Given the description of an element on the screen output the (x, y) to click on. 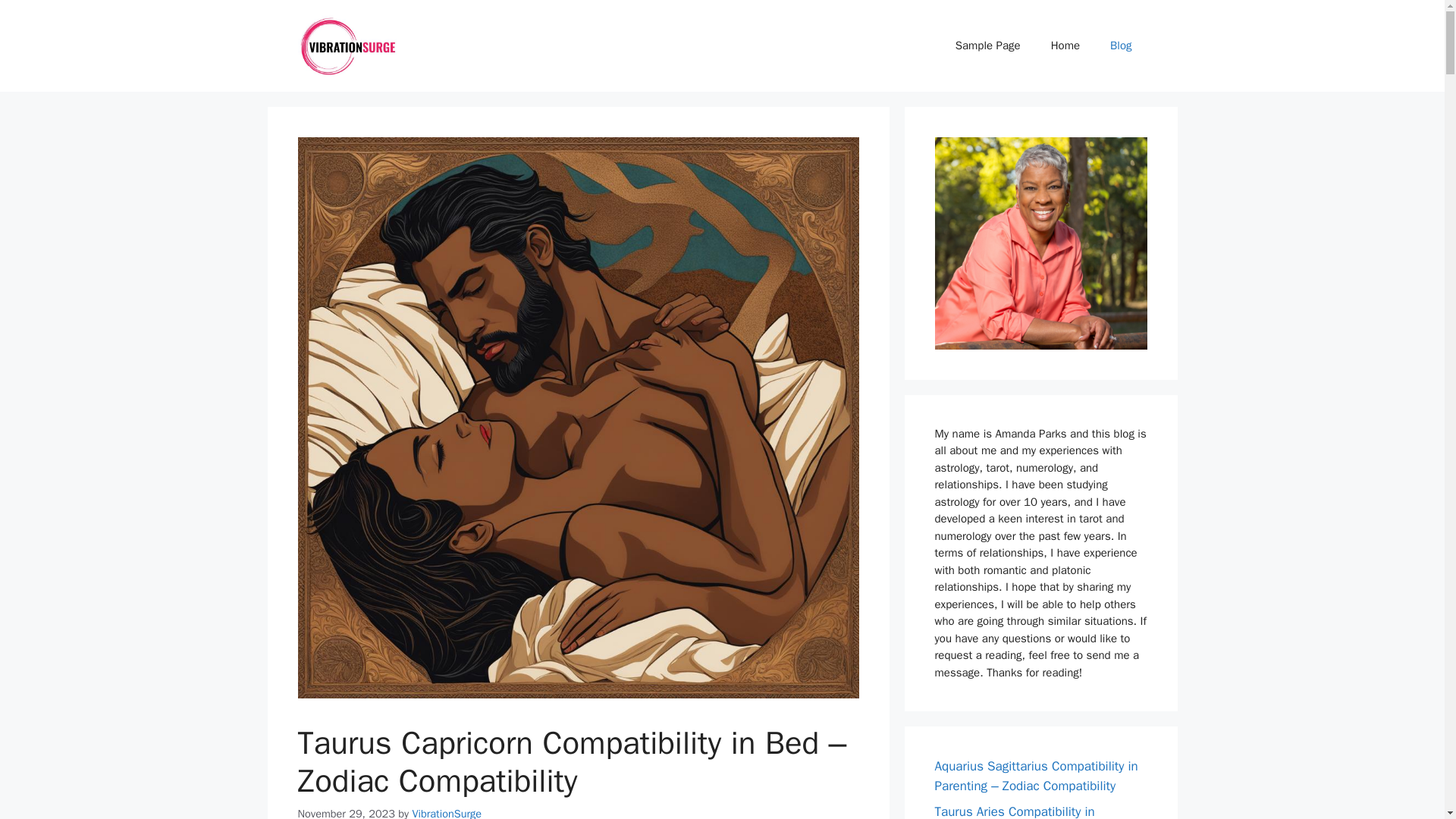
Sample Page (987, 44)
VibrationSurge (446, 812)
Blog (1120, 44)
View all posts by VibrationSurge (446, 812)
Home (1064, 44)
